Given the description of an element on the screen output the (x, y) to click on. 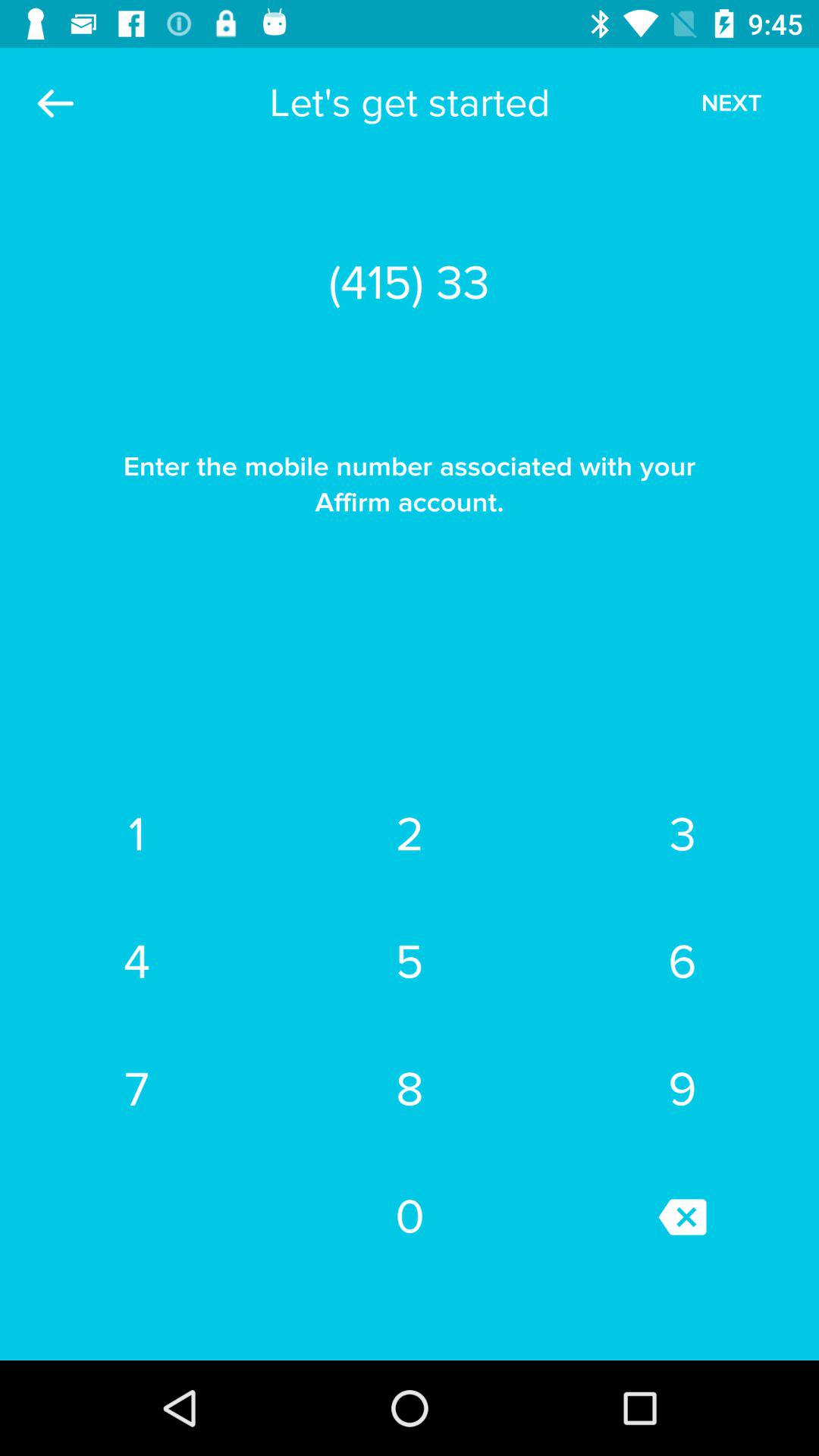
open the item next to the 3 item (409, 834)
